Given the description of an element on the screen output the (x, y) to click on. 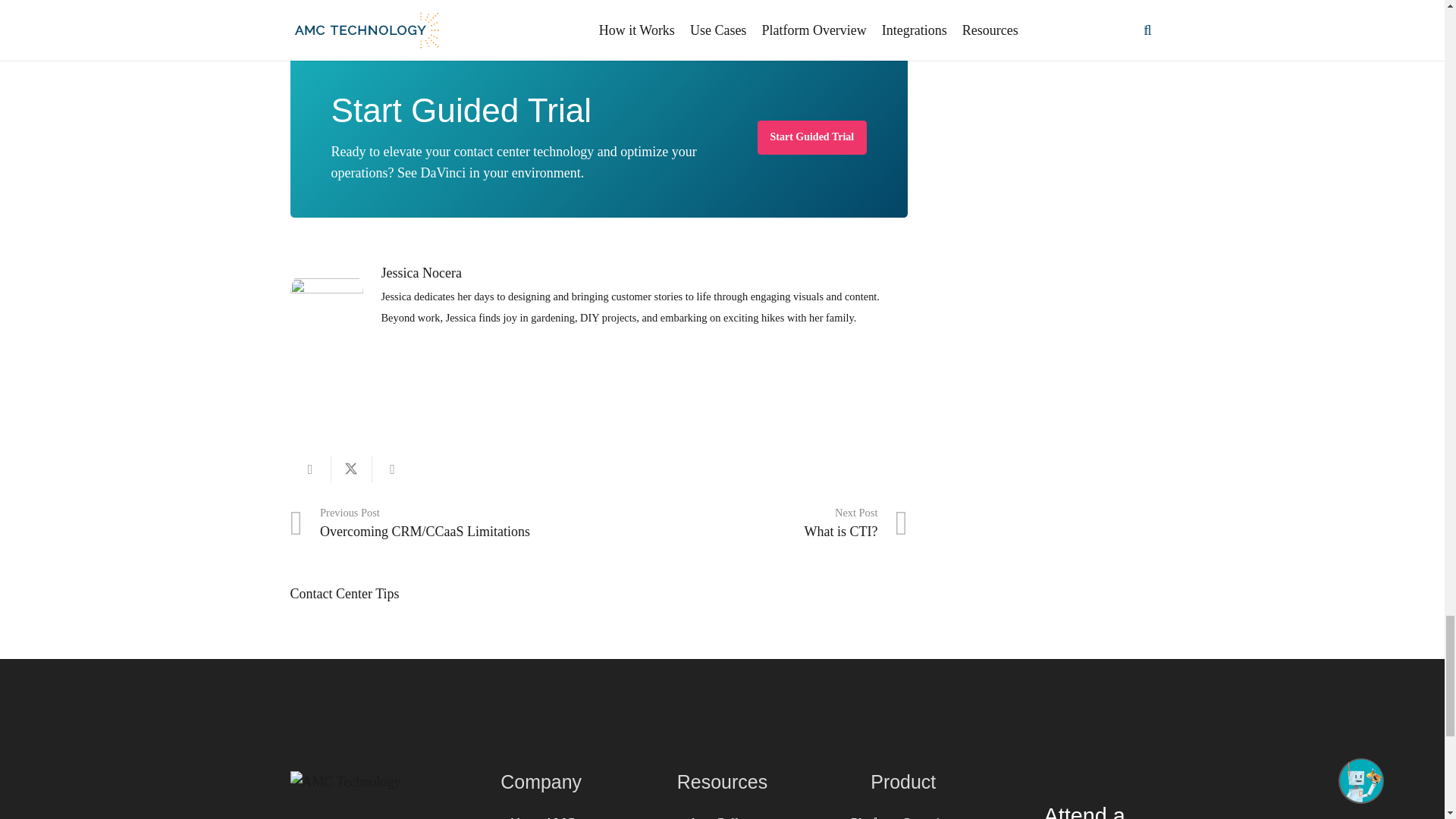
Tweet this (350, 469)
Share this (309, 469)
Free Trial (811, 137)
Share this (391, 469)
What is CTI? (752, 523)
